Given the description of an element on the screen output the (x, y) to click on. 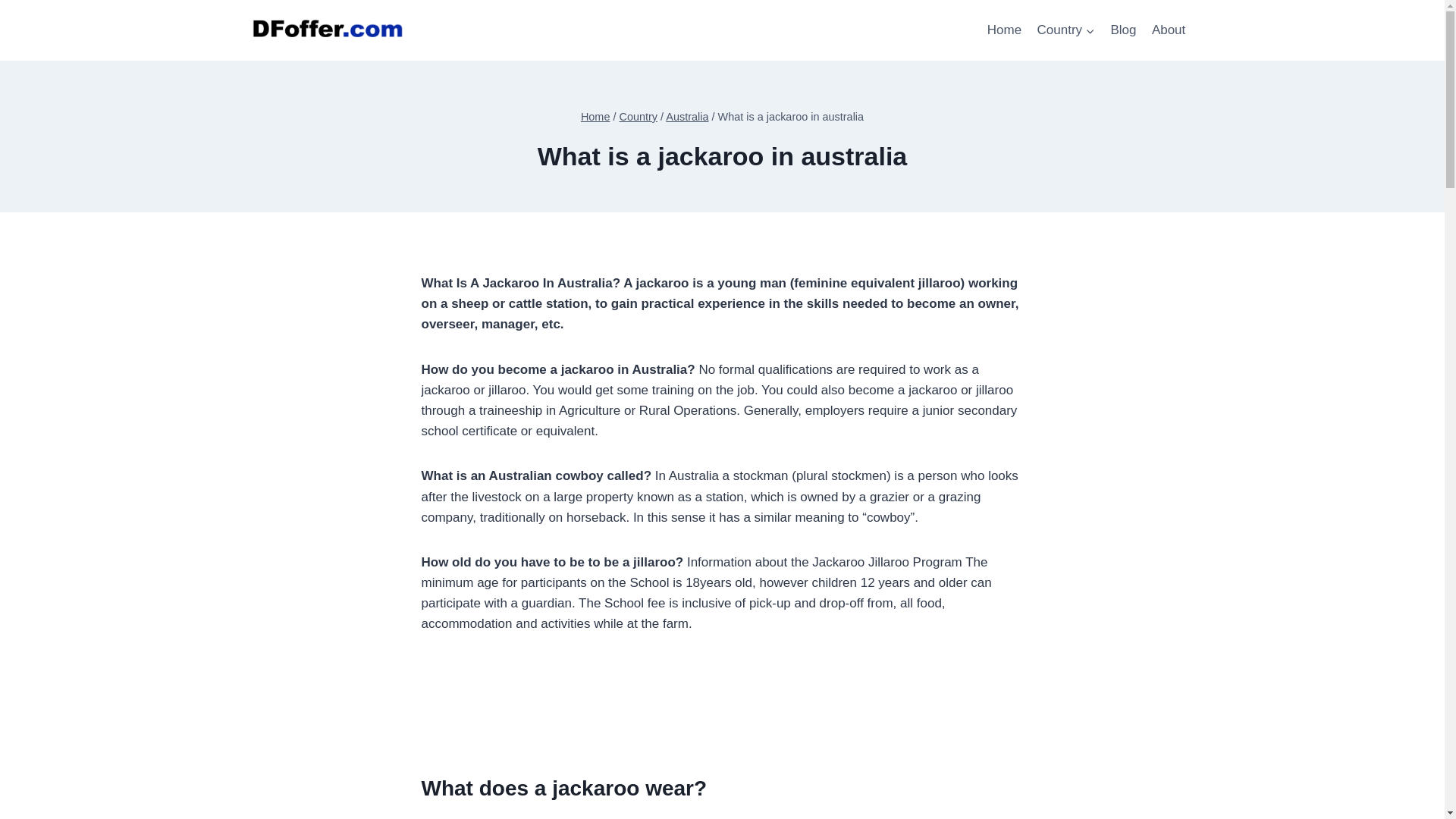
Australia (686, 116)
Blog (1122, 30)
Country (638, 116)
About (1168, 30)
Country (1065, 30)
Home (595, 116)
Home (1004, 30)
